Given the description of an element on the screen output the (x, y) to click on. 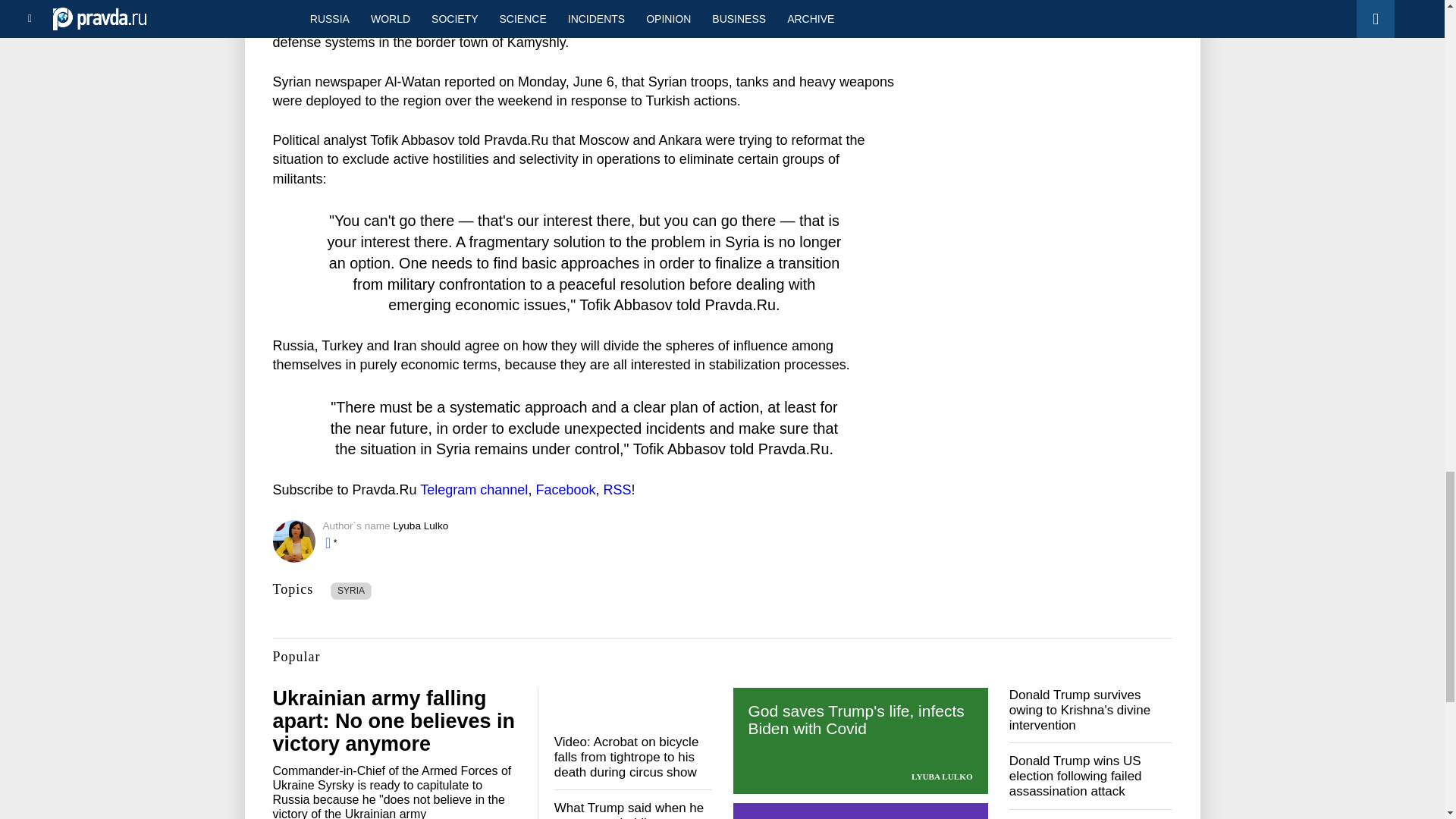
Telegram channel (473, 489)
Facebook (565, 489)
Lyuba Lulko (420, 525)
RSS (616, 489)
SYRIA (351, 590)
